Given the description of an element on the screen output the (x, y) to click on. 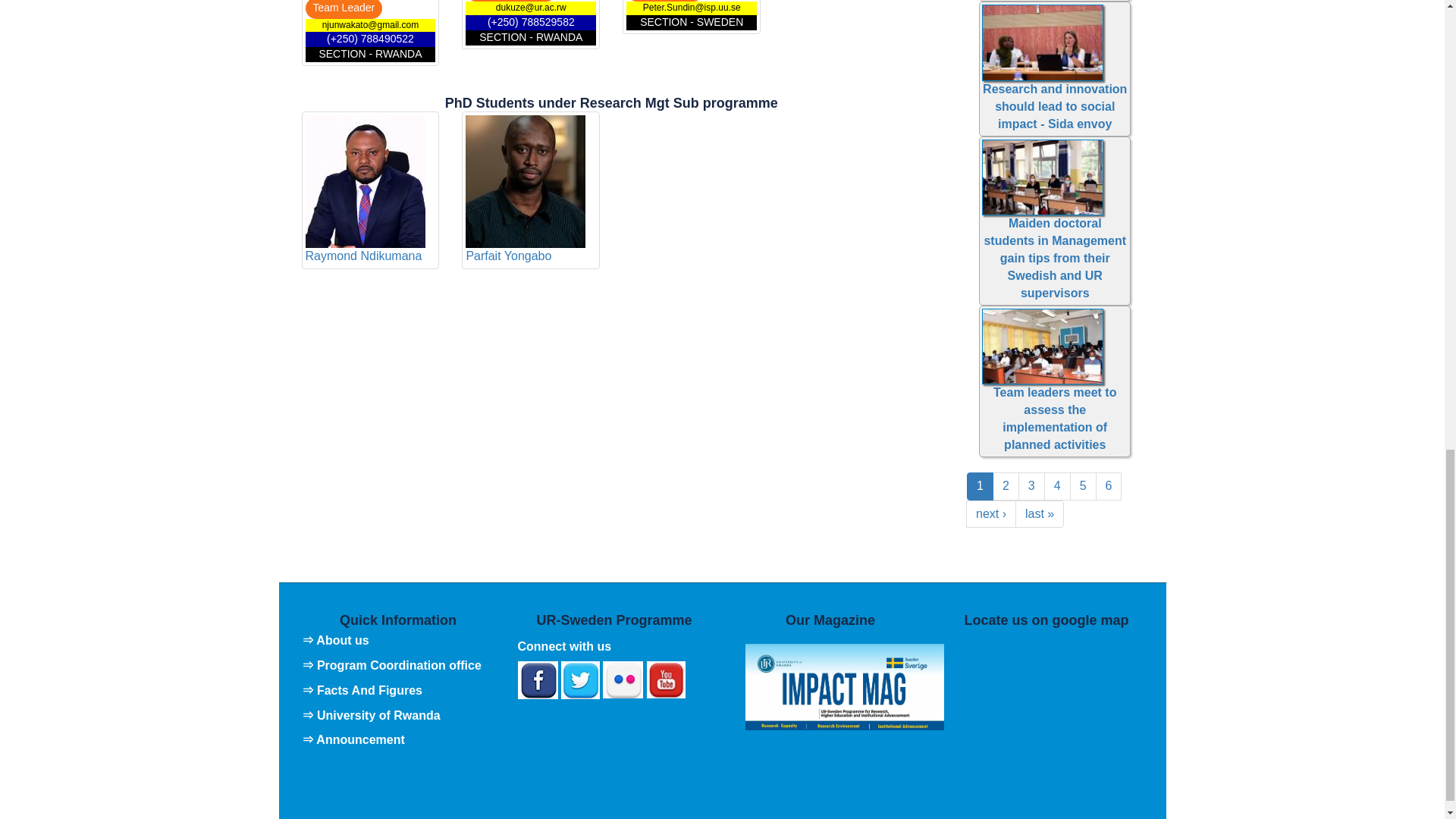
Go to page 3 (1031, 486)
Go to page 5 (1083, 486)
Go to page 4 (1056, 486)
Go to page 2 (1005, 486)
